Given the description of an element on the screen output the (x, y) to click on. 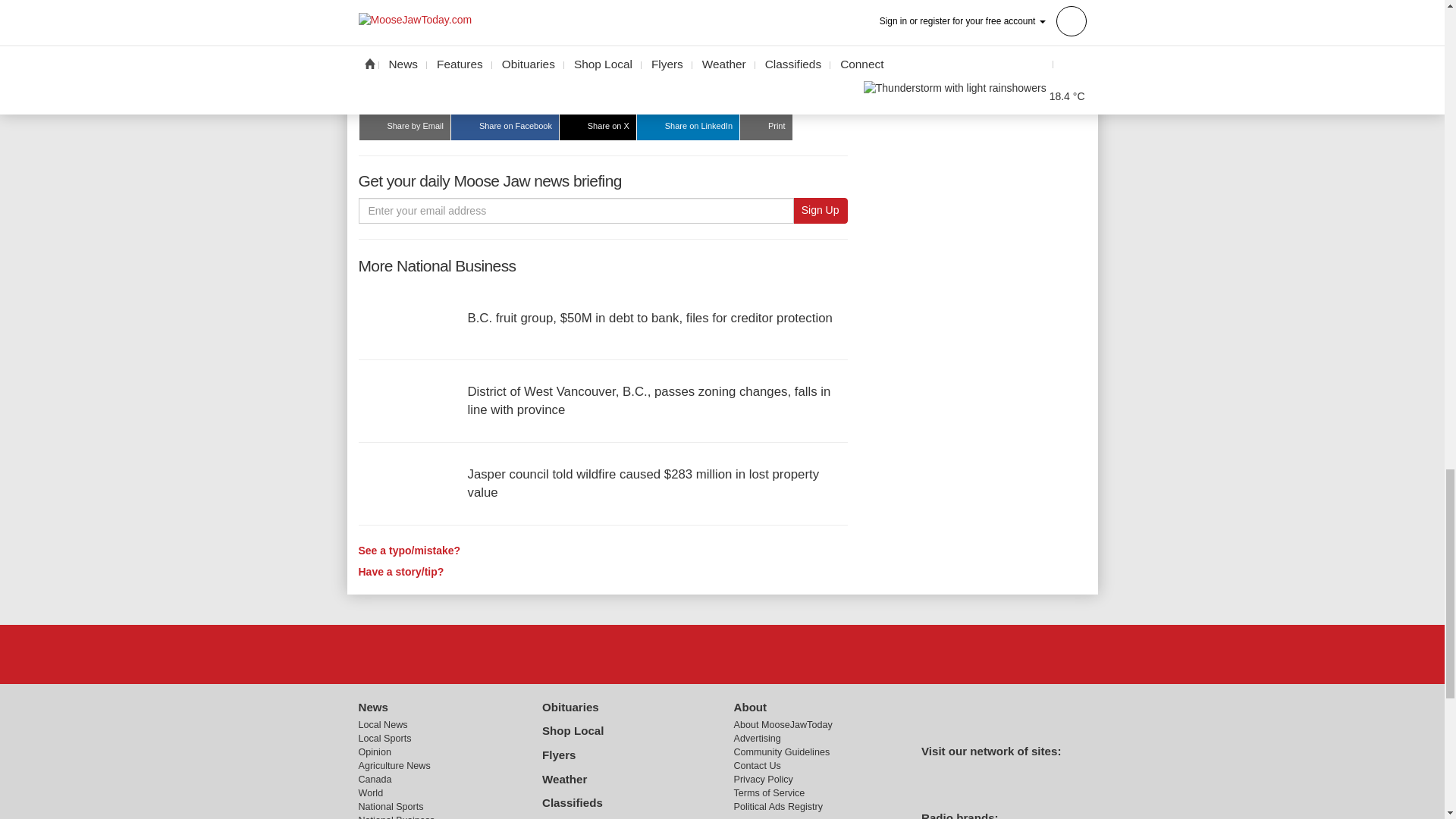
X (721, 653)
Instagram (760, 653)
Facebook (683, 653)
